Given the description of an element on the screen output the (x, y) to click on. 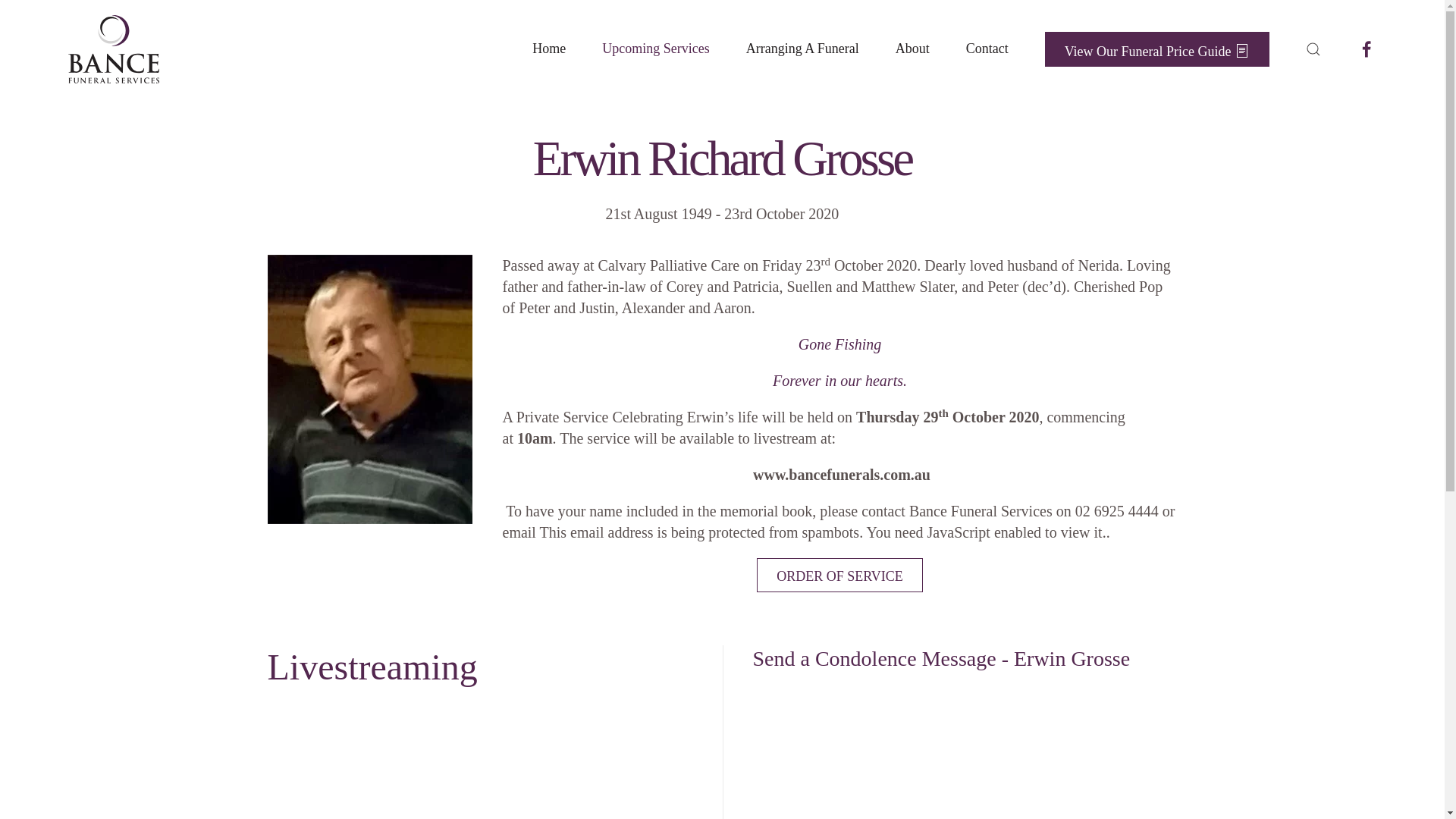
ORDER OF SERVICE Element type: text (839, 575)
Arranging A Funeral Element type: text (802, 49)
Contact Element type: text (987, 49)
Home Element type: text (548, 49)
View Our Funeral Price Guide Element type: text (1156, 49)
Upcoming Services Element type: text (655, 49)
About Element type: text (912, 49)
